Given the description of an element on the screen output the (x, y) to click on. 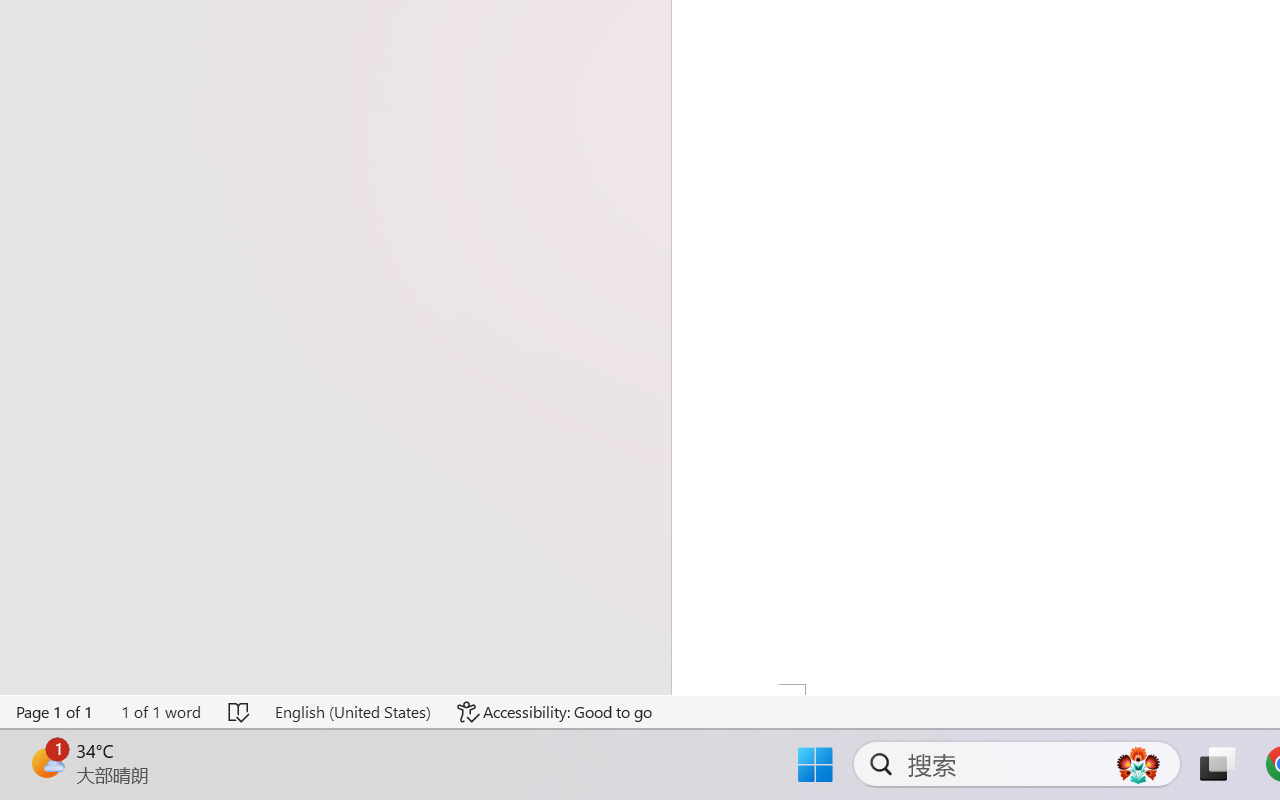
Page Number Page 1 of 1 (55, 712)
